Given the description of an element on the screen output the (x, y) to click on. 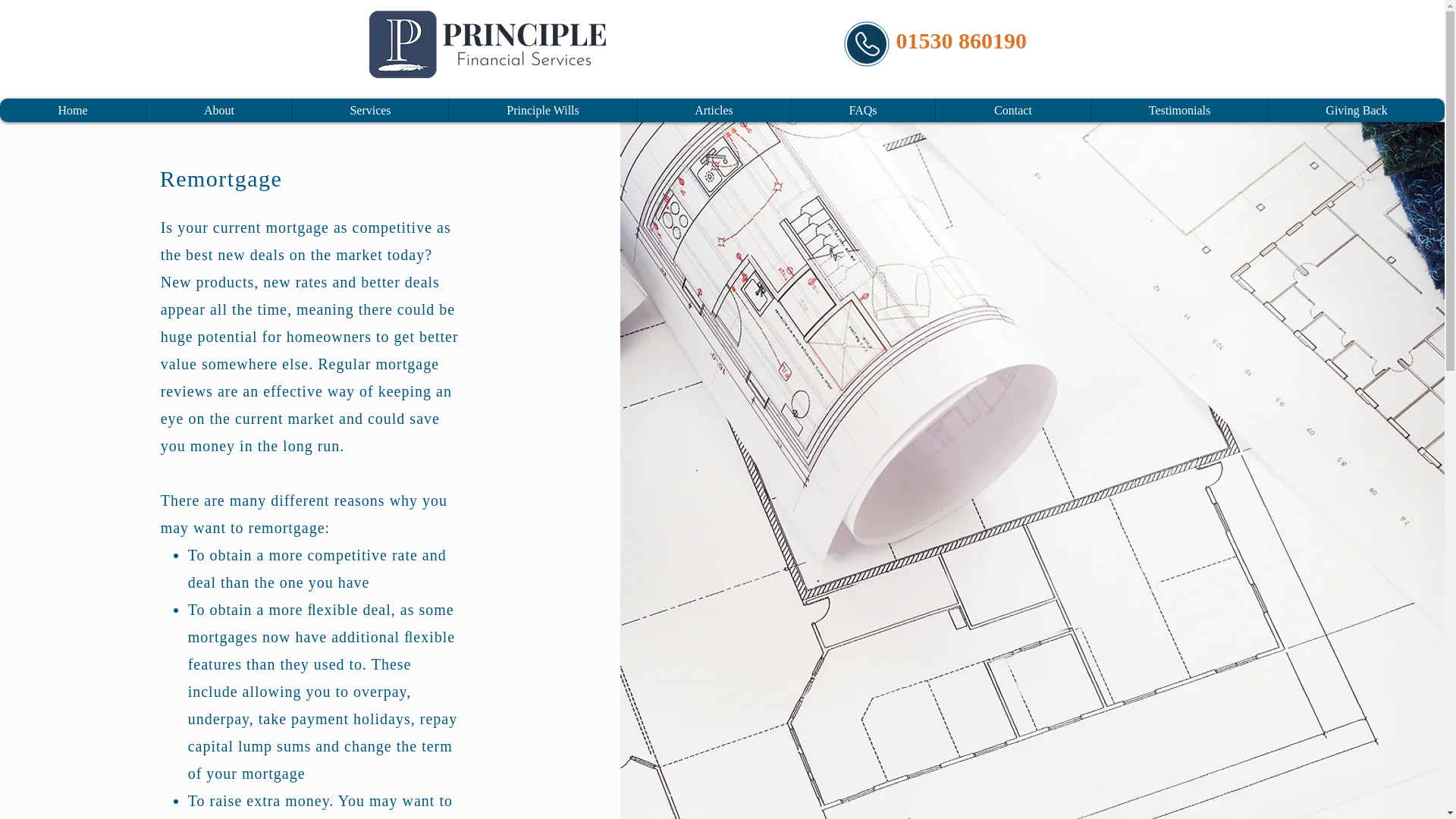
Articles (713, 110)
Testimonials (1179, 110)
About (218, 110)
Home (72, 110)
Contact (1012, 110)
Principle Wills (542, 110)
Services (370, 110)
FAQs (862, 110)
